Given the description of an element on the screen output the (x, y) to click on. 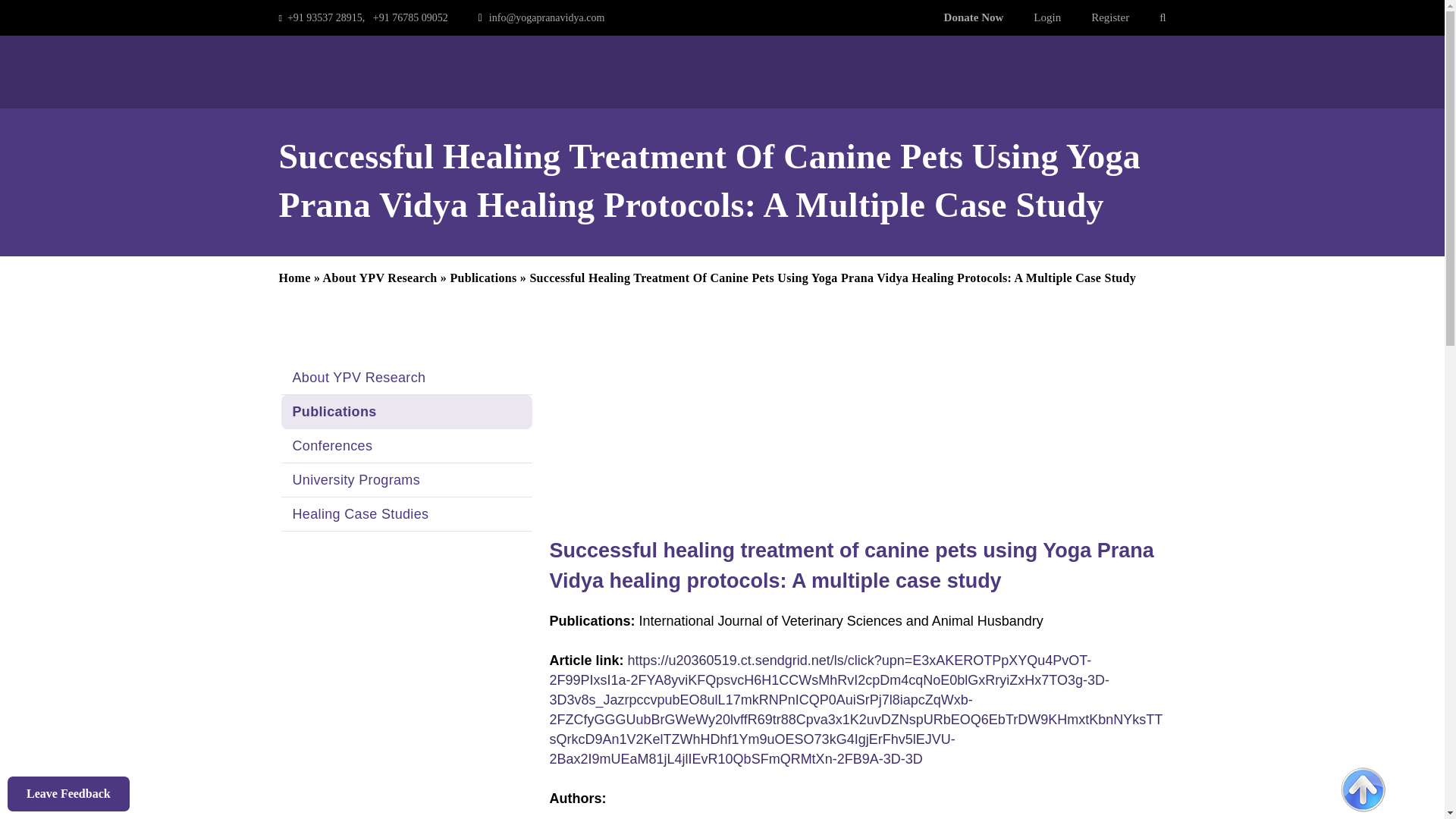
Register (1109, 17)
Top of Page (1363, 790)
Login (1047, 17)
Donate Now (965, 17)
